Given the description of an element on the screen output the (x, y) to click on. 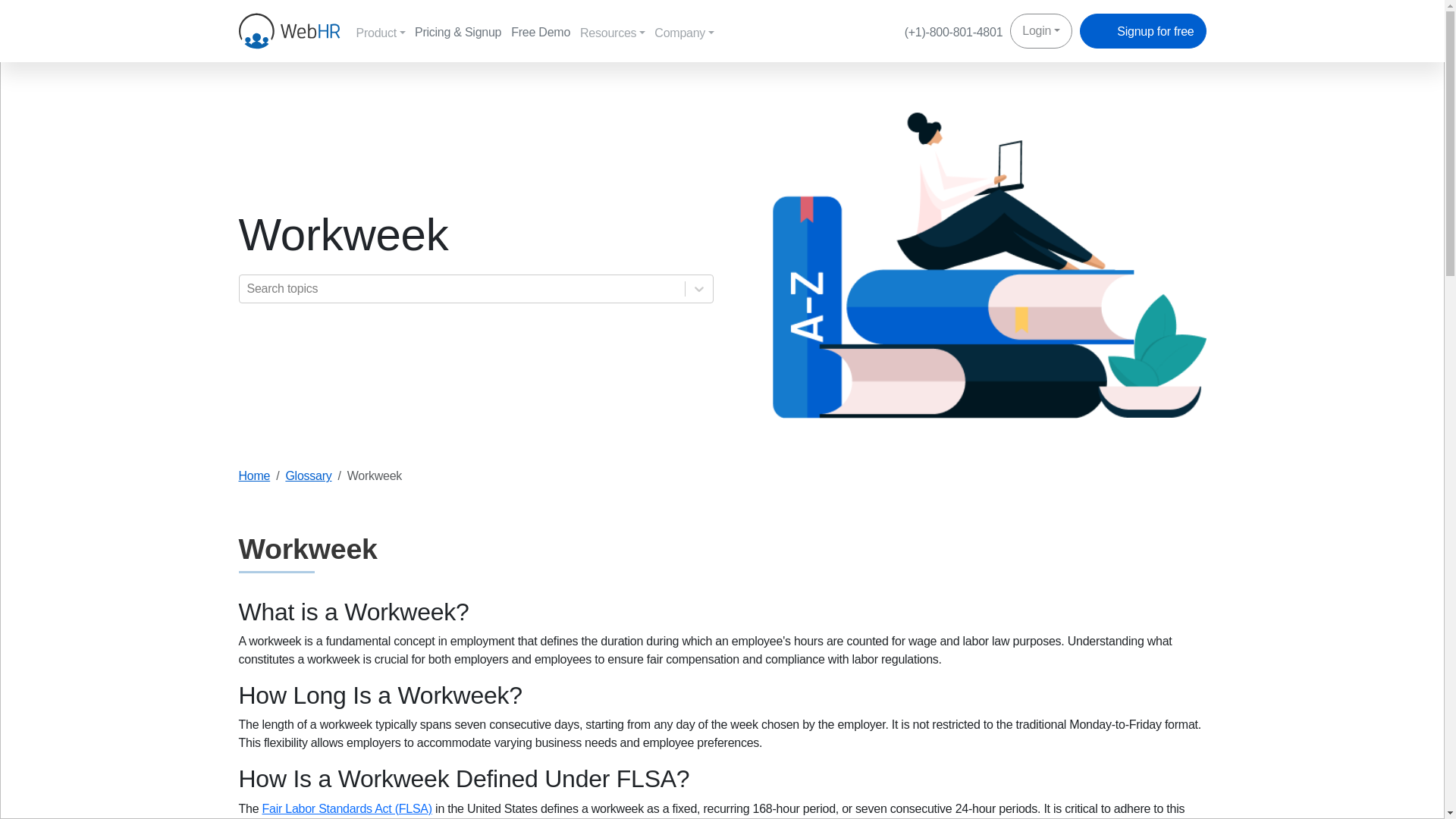
Home (253, 475)
Glossary (308, 475)
Free Demo (543, 31)
Product (385, 32)
Login (1040, 30)
Company (688, 32)
Resources (616, 32)
Signup for free (1142, 30)
